Given the description of an element on the screen output the (x, y) to click on. 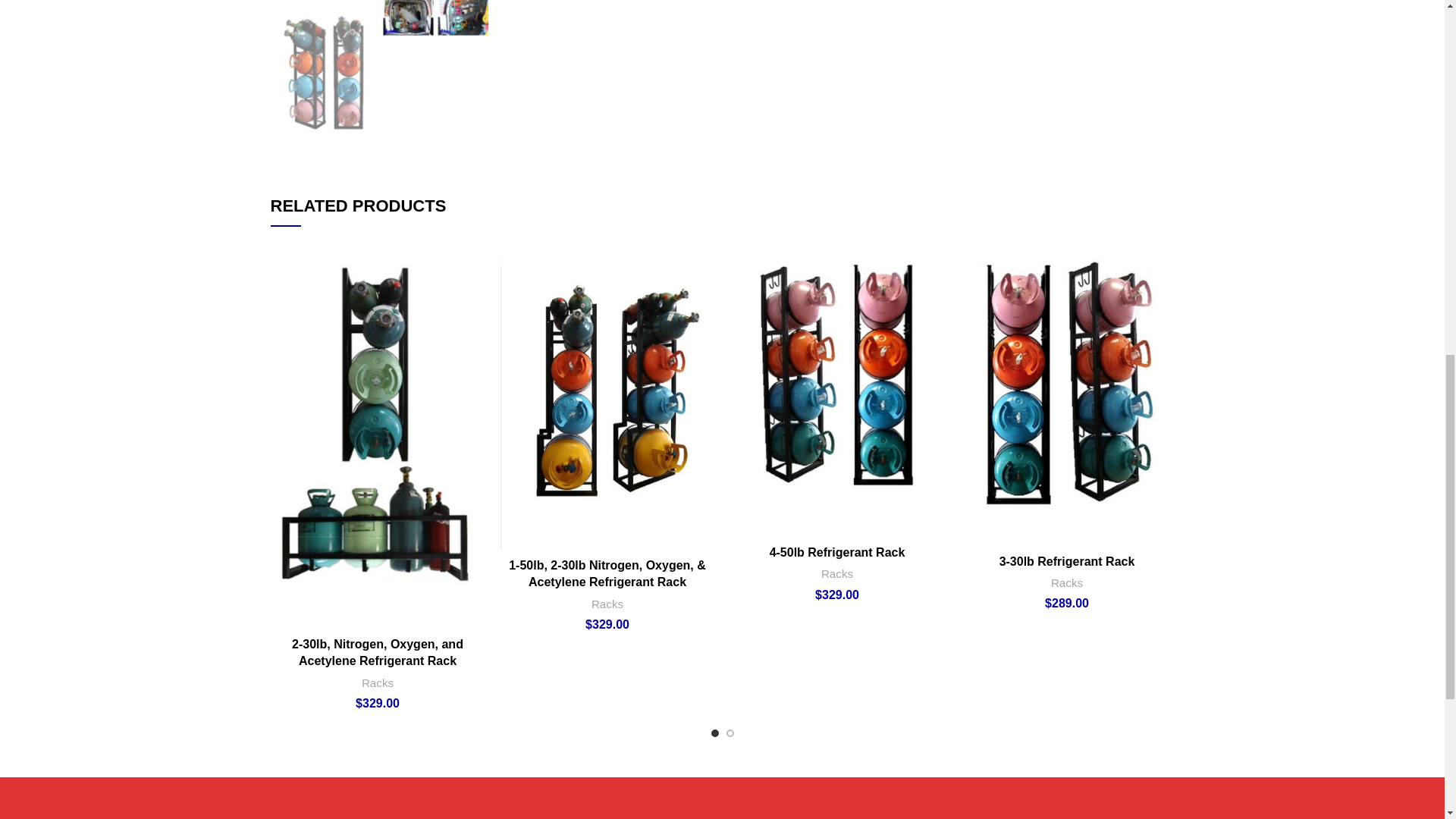
Racks (377, 683)
2-30lb, Nitrogen, Oxygen, and Acetylene Refrigerant Rack (377, 652)
